Given the description of an element on the screen output the (x, y) to click on. 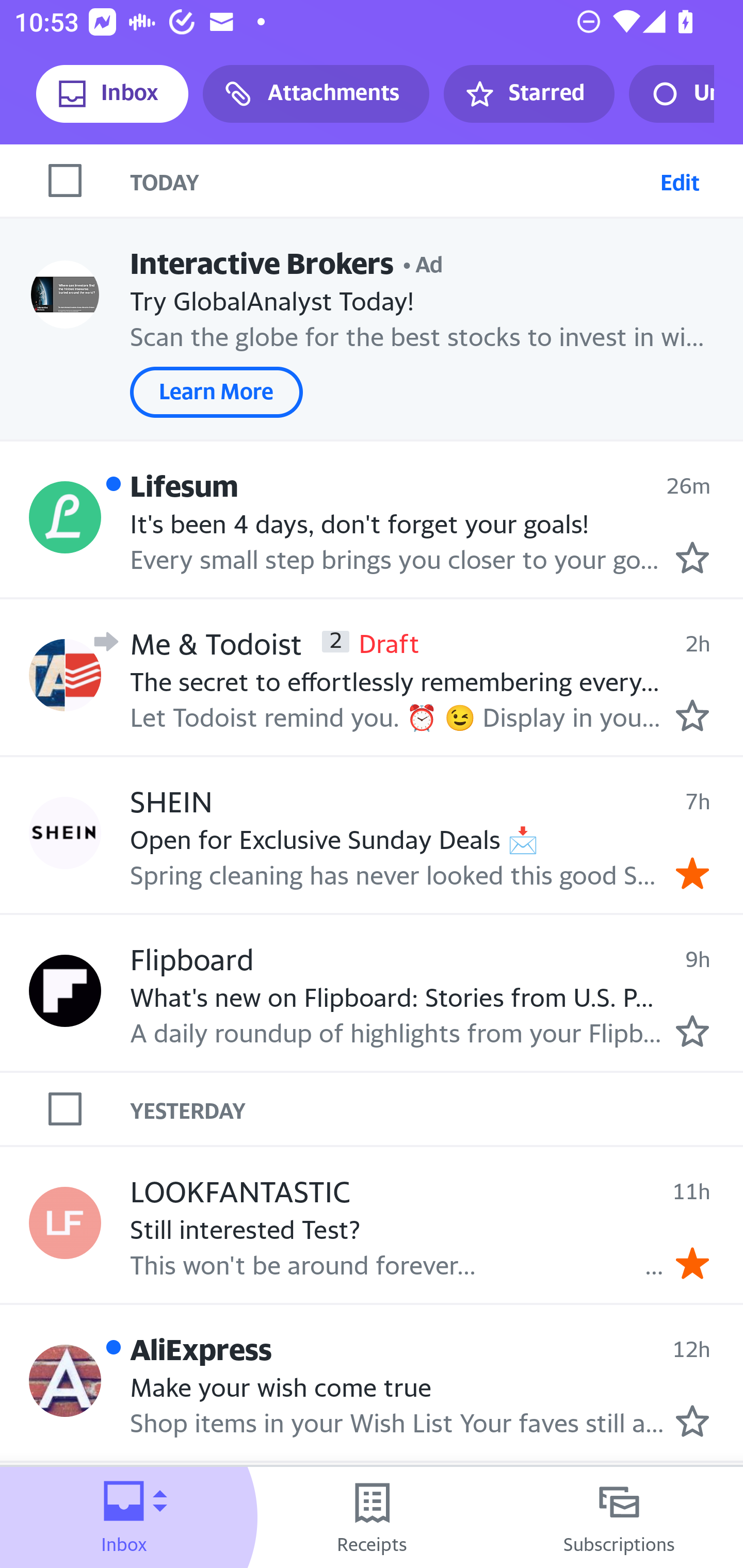
Attachments (315, 93)
Starred (528, 93)
TODAY (391, 180)
Edit Select emails (679, 180)
Profile
Lifesum (64, 517)
Mark as starred. (692, 557)
Profile
Me & Todoist (64, 675)
Mark as starred. (692, 715)
Profile
SHEIN (64, 832)
Remove star. (692, 872)
Profile
Flipboard (64, 990)
Mark as starred. (692, 1030)
YESTERDAY (436, 1109)
Profile
LOOKFANTASTIC (64, 1222)
Remove star. (692, 1262)
Profile
AliExpress (64, 1381)
Mark as starred. (692, 1421)
Inbox Folder picker (123, 1517)
Receipts (371, 1517)
Subscriptions (619, 1517)
